Given the description of an element on the screen output the (x, y) to click on. 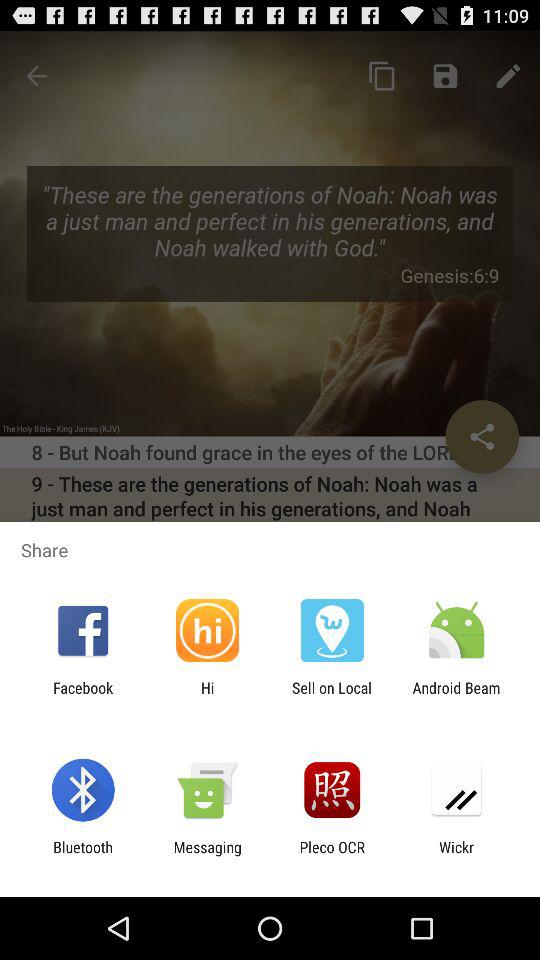
turn on the app to the left of the messaging icon (82, 856)
